Given the description of an element on the screen output the (x, y) to click on. 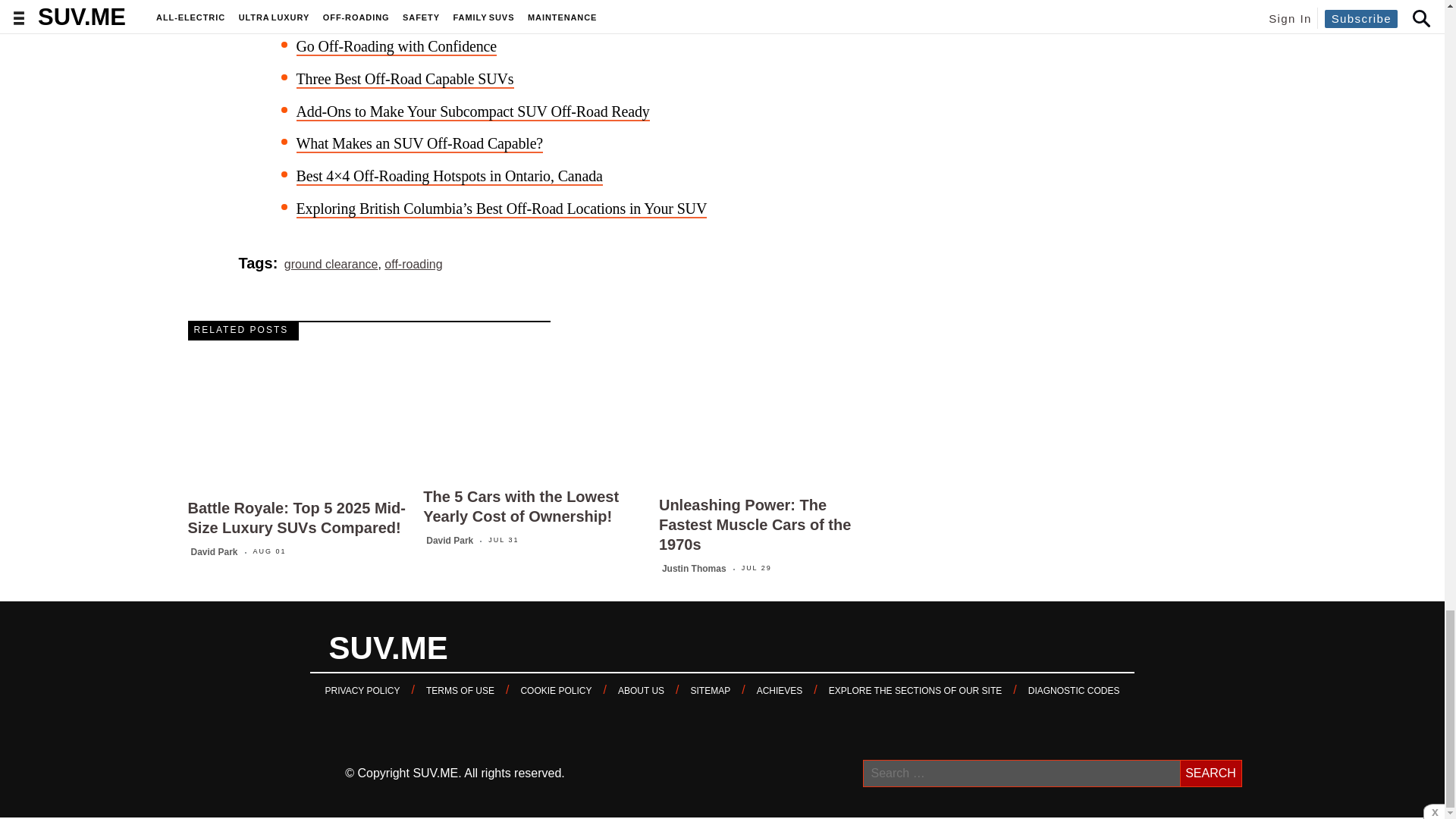
Search (1210, 773)
Search (1210, 773)
